Given the description of an element on the screen output the (x, y) to click on. 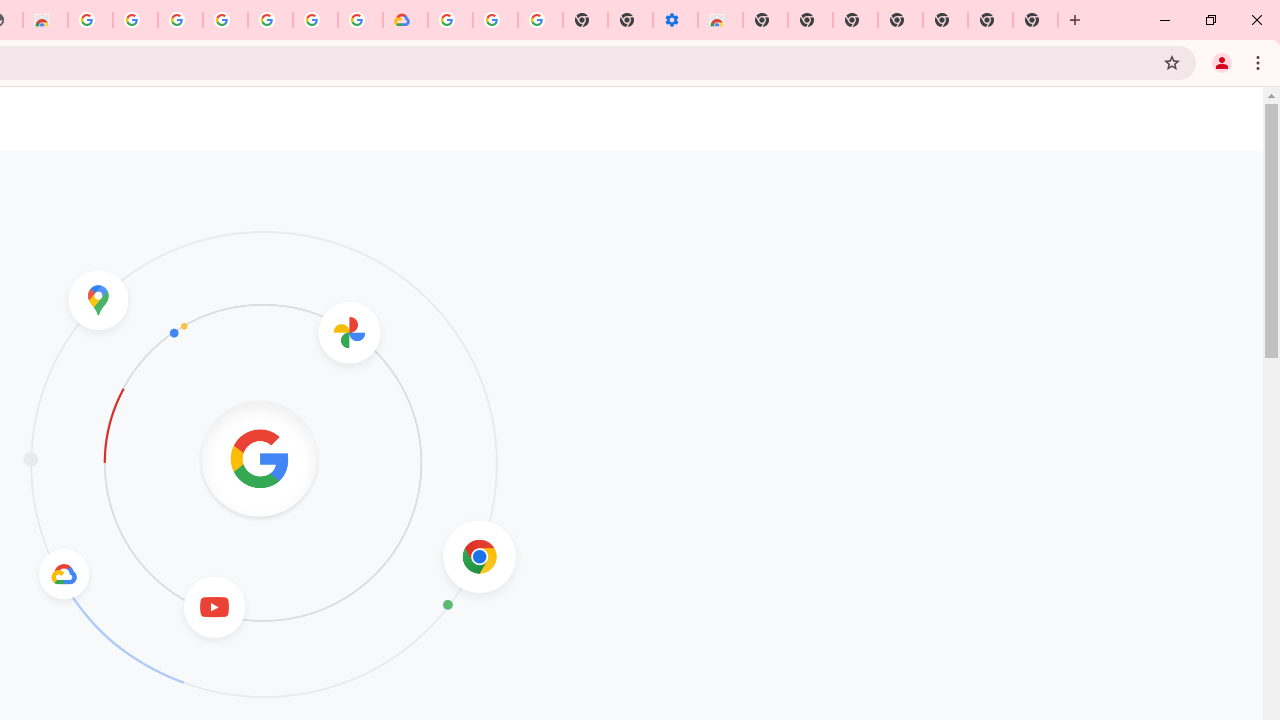
Chrome Web Store - Accessibility extensions (720, 20)
New Tab (1075, 20)
Close (1256, 20)
Chrome Web Store - Household (45, 20)
Chrome (1260, 62)
Ad Settings (134, 20)
You (1221, 62)
Turn cookies on or off - Computer - Google Account Help (540, 20)
